Given the description of an element on the screen output the (x, y) to click on. 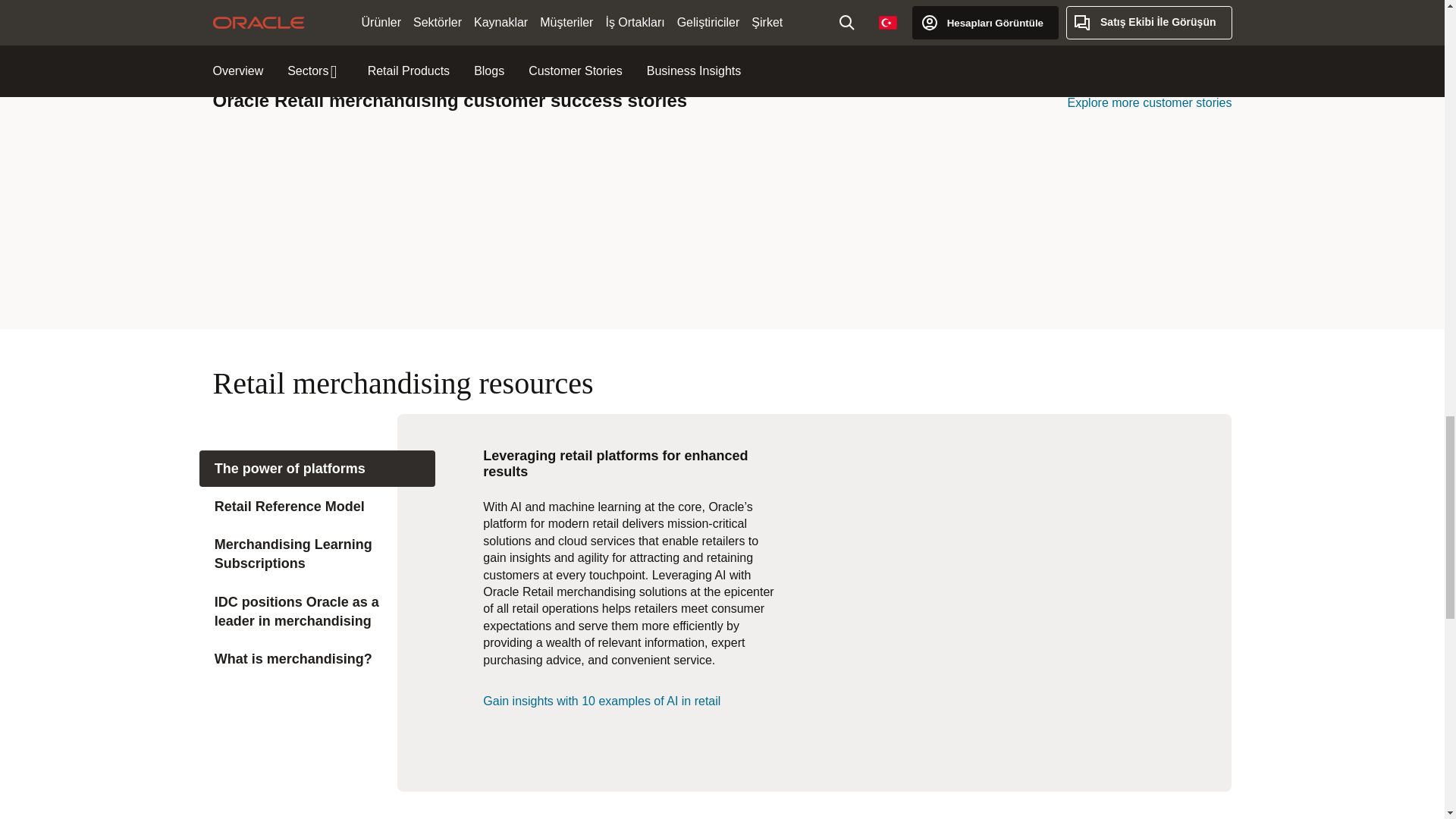
Read the Komax story (1103, 177)
Read the Cape Union Mart story (594, 177)
Read the Flink story (849, 178)
Read the Mr Price story (339, 254)
Read the Waldo's Dollar Mart story (594, 253)
